Given the description of an element on the screen output the (x, y) to click on. 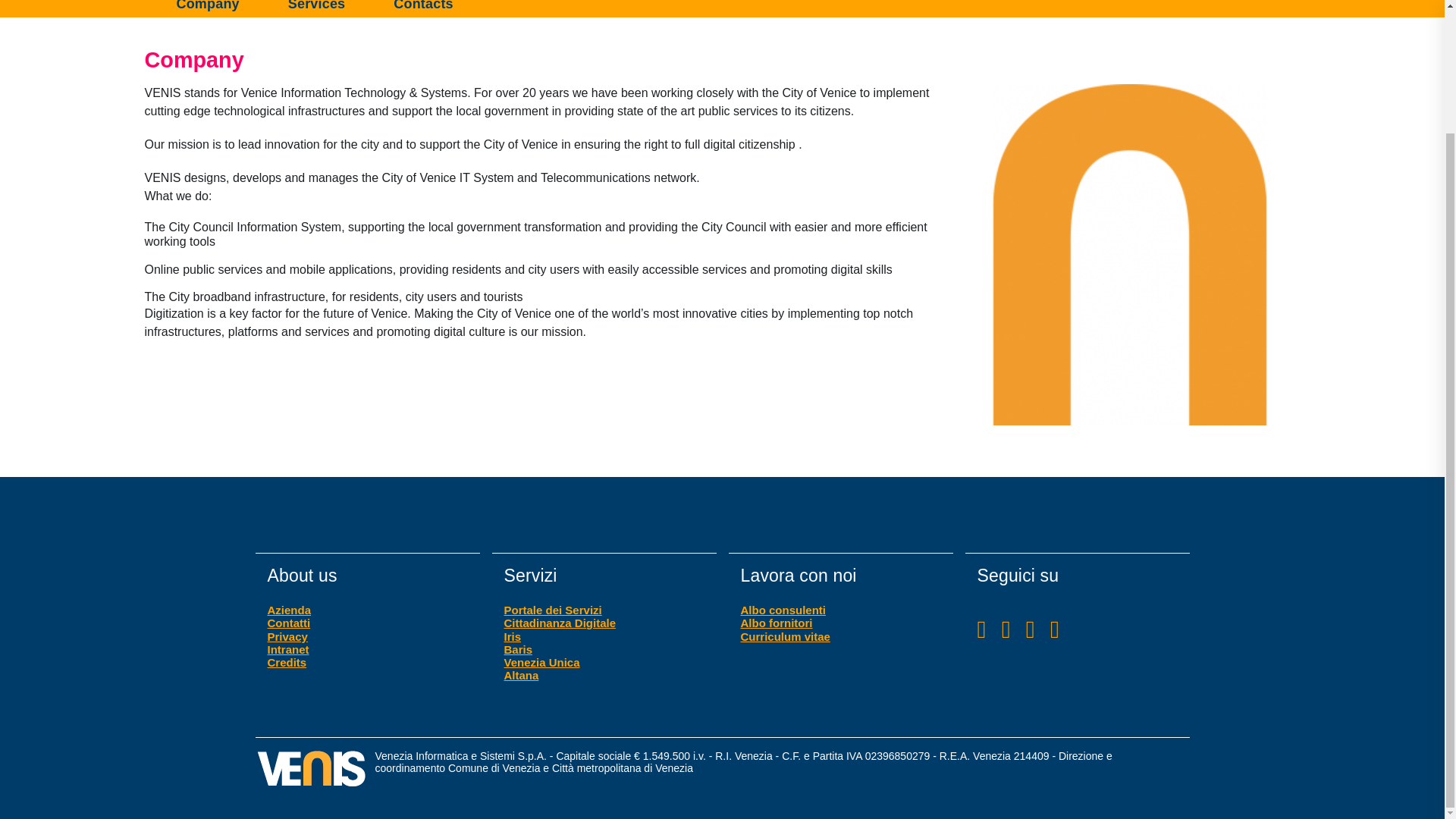
Services (316, 9)
Contacts (423, 9)
Company (219, 9)
